Given the description of an element on the screen output the (x, y) to click on. 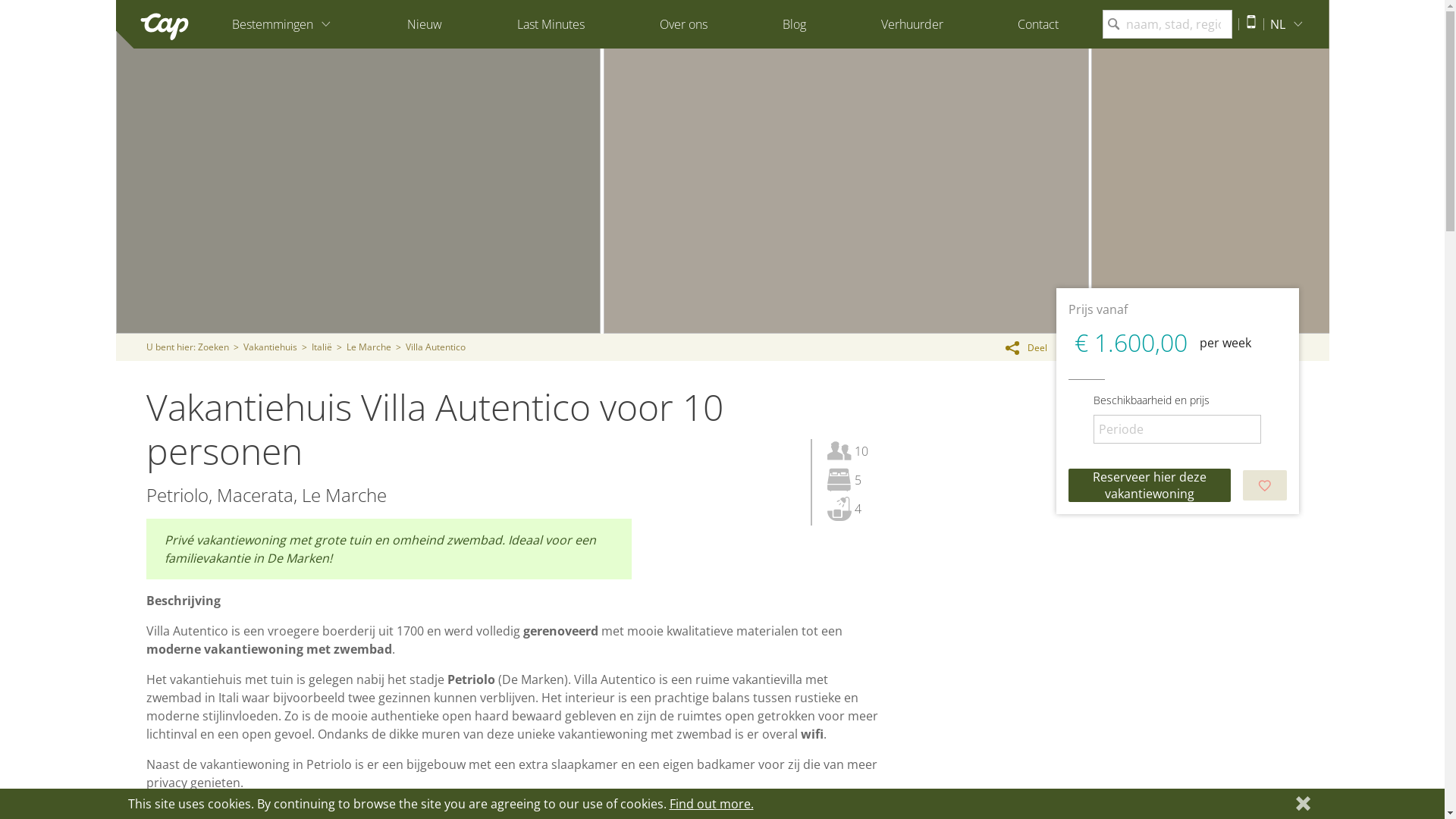
Vakantiehuis Element type: text (269, 346)
Find out more. Element type: text (710, 803)
Nieuw Element type: text (424, 23)
Last Minutes Element type: text (550, 23)
Reserveer hier deze vakantiewoning Element type: text (1148, 485)
Blog Element type: text (794, 23)
Villa Autentico Element type: text (434, 346)
Le Marche Element type: text (367, 346)
Over ons Element type: text (683, 23)
Zoeken Element type: text (212, 346)
Reserveer hier deze vakantiewoning Element type: text (1148, 484)
Contact Element type: text (1037, 23)
Verhuurder Element type: text (912, 23)
